Given the description of an element on the screen output the (x, y) to click on. 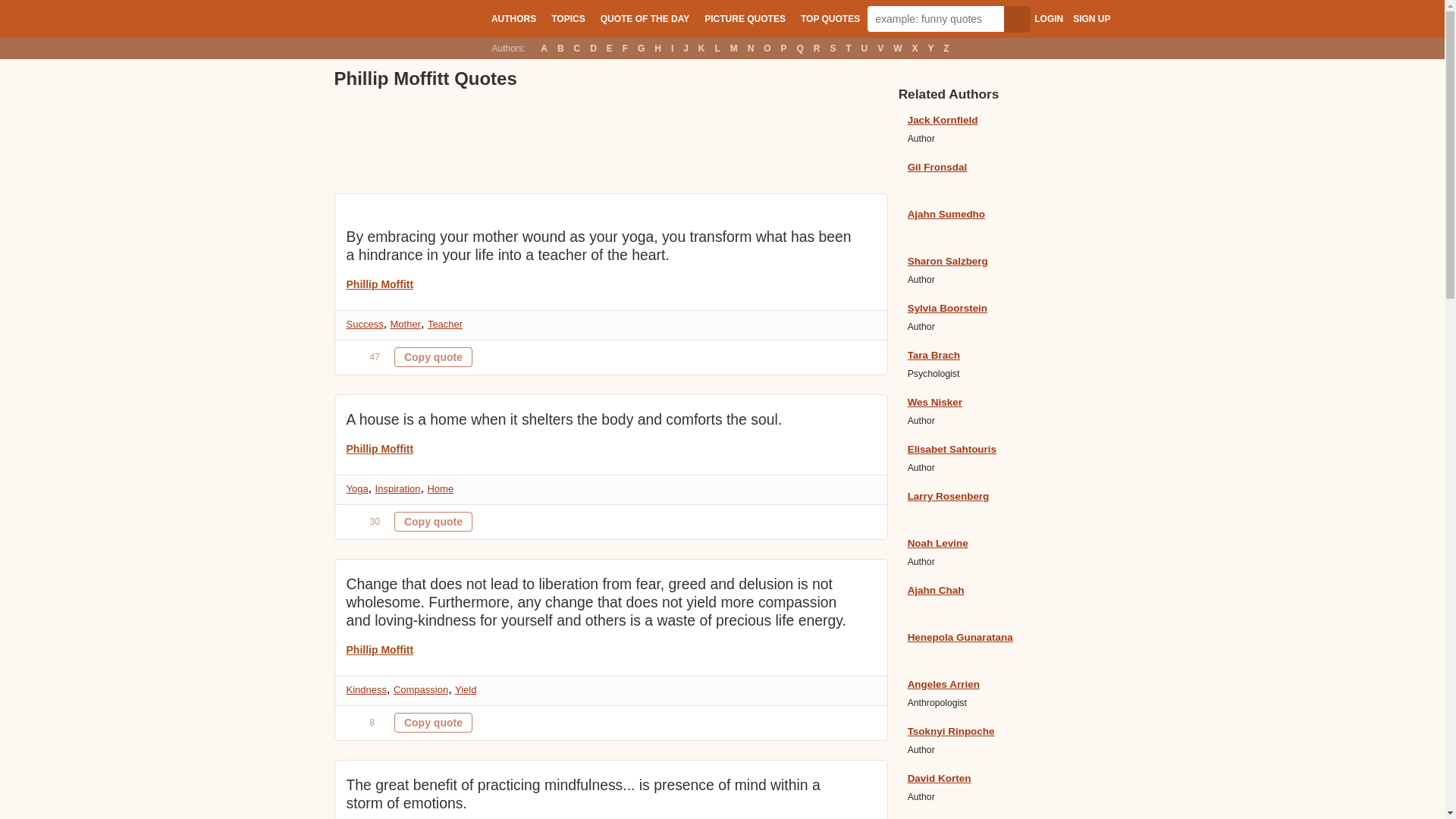
Quote is copied (432, 521)
TOP QUOTES (830, 18)
LOGIN (1047, 18)
PICTURE QUOTES (745, 18)
SIGN UP (1091, 18)
Quote is copied (432, 356)
AUTHORS (513, 18)
Quote is copied (432, 722)
TOPICS (567, 18)
QUOTE OF THE DAY (644, 18)
